Given the description of an element on the screen output the (x, y) to click on. 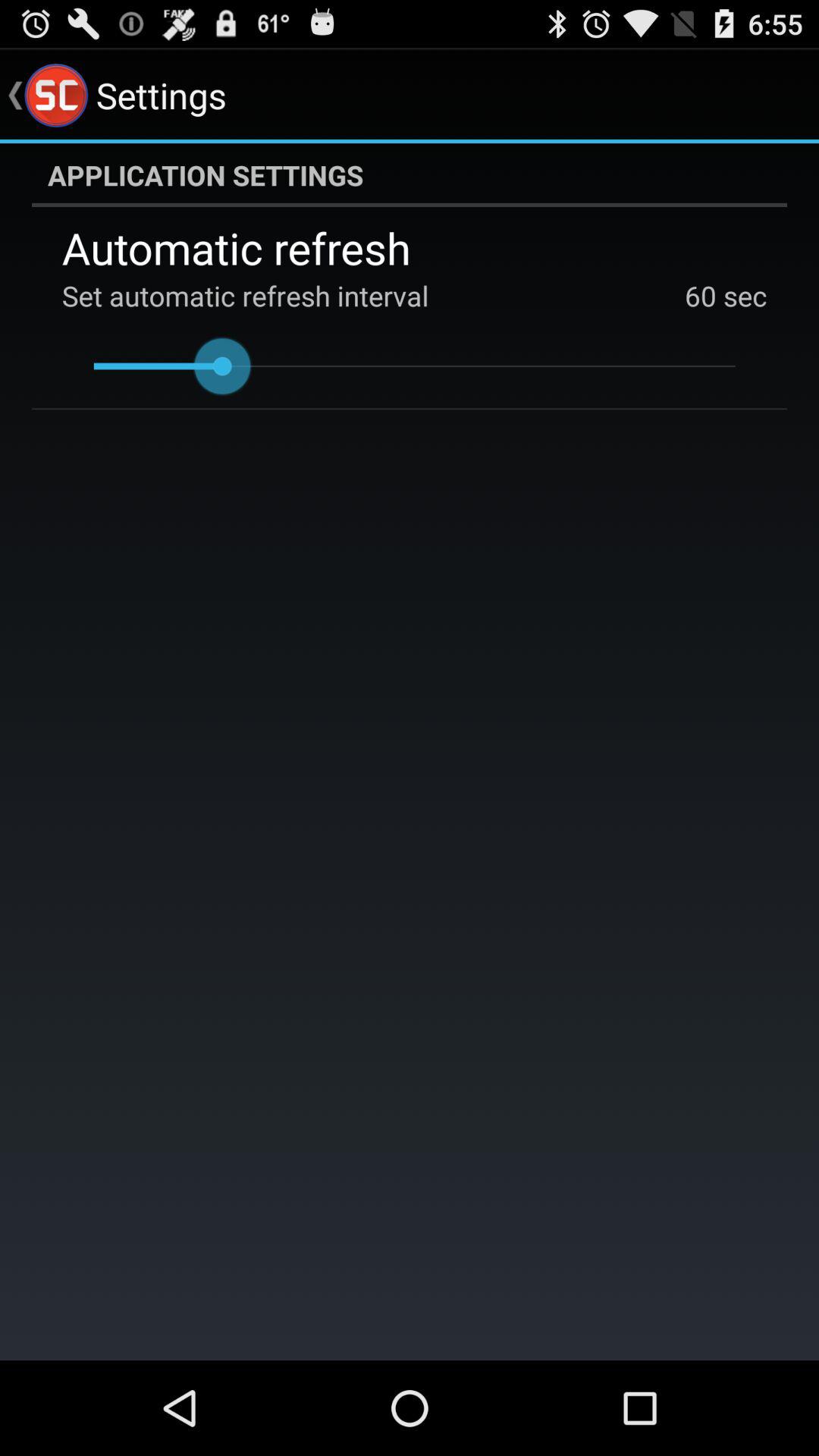
open item above automatic refresh icon (409, 175)
